Given the description of an element on the screen output the (x, y) to click on. 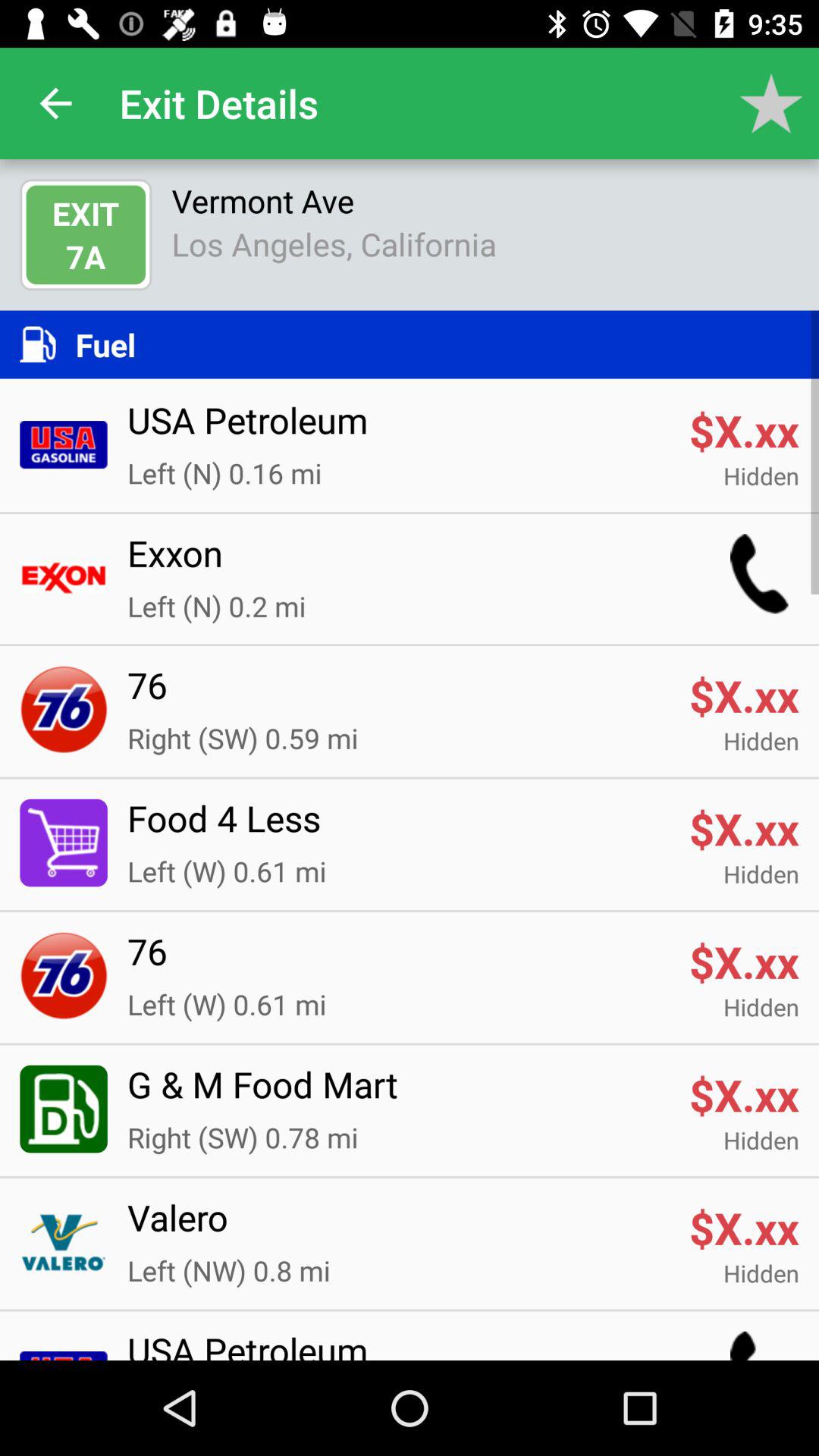
click on the gas station icon (63, 1108)
